Given the description of an element on the screen output the (x, y) to click on. 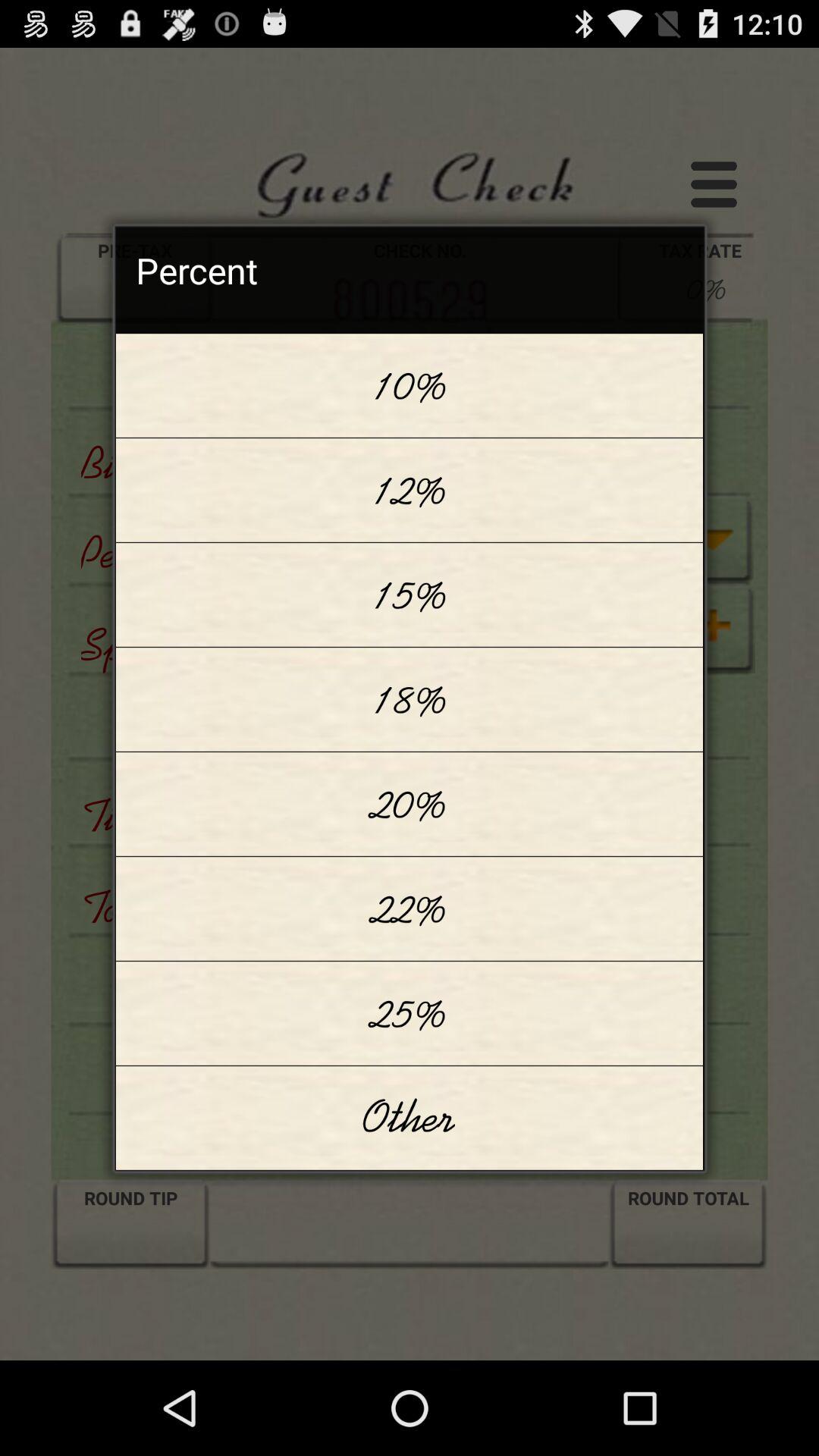
click app above the 18% item (409, 594)
